Given the description of an element on the screen output the (x, y) to click on. 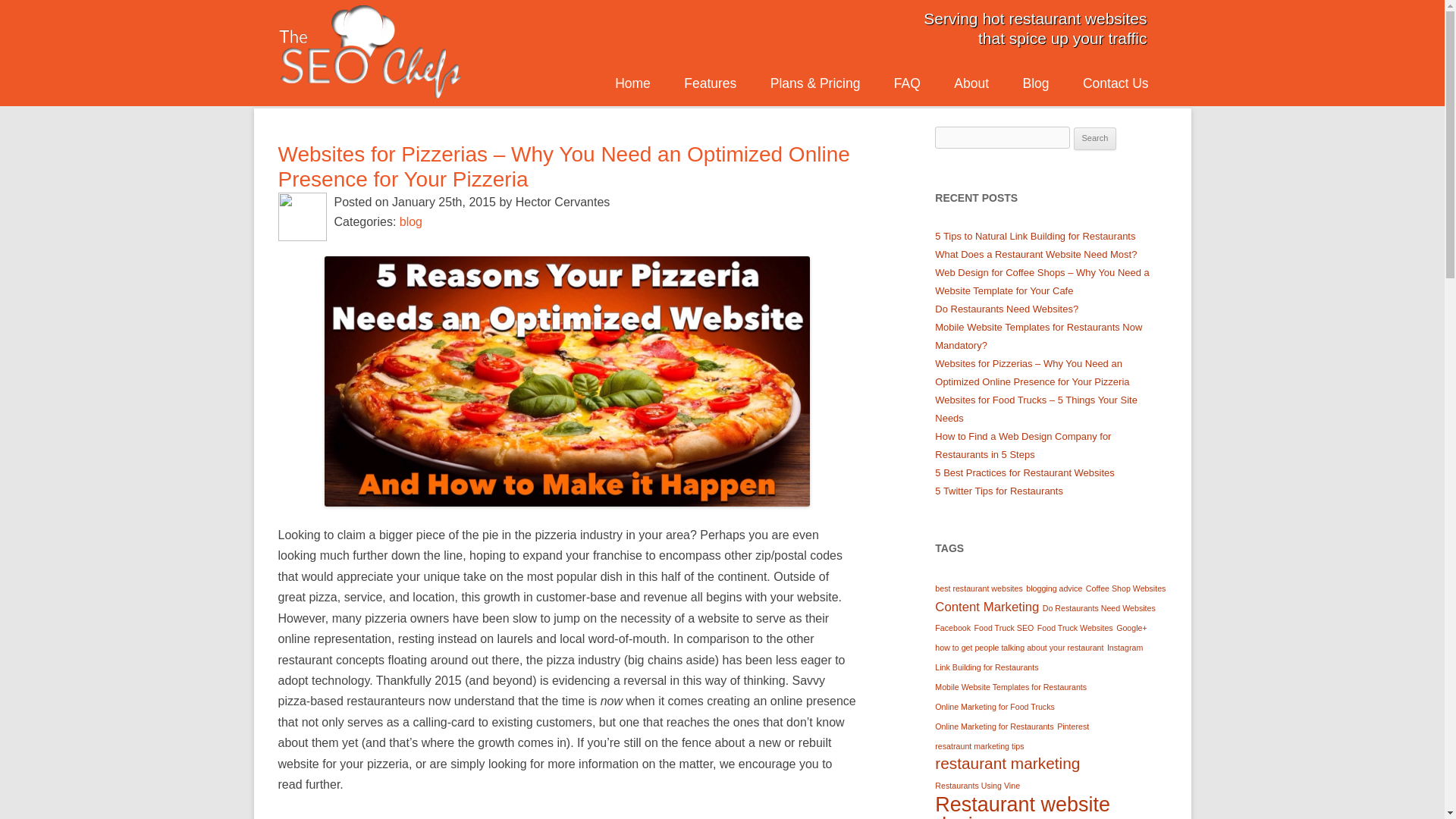
FAQ (906, 83)
Contact Us (1115, 83)
About (970, 83)
Search (1095, 138)
Blog (1035, 83)
best restaurant websites (978, 587)
Do Restaurants Need Websites? (1006, 308)
5 Tips to Natural Link Building for Restaurants (1034, 235)
Coffee Shop Websites (1126, 587)
blog (410, 221)
Home (632, 83)
Mobile Website Templates for Restaurants Now Mandatory? (1037, 336)
blogging advice (1053, 587)
How to Find a Web Design Company for Restaurants in 5 Steps (1022, 445)
